Given the description of an element on the screen output the (x, y) to click on. 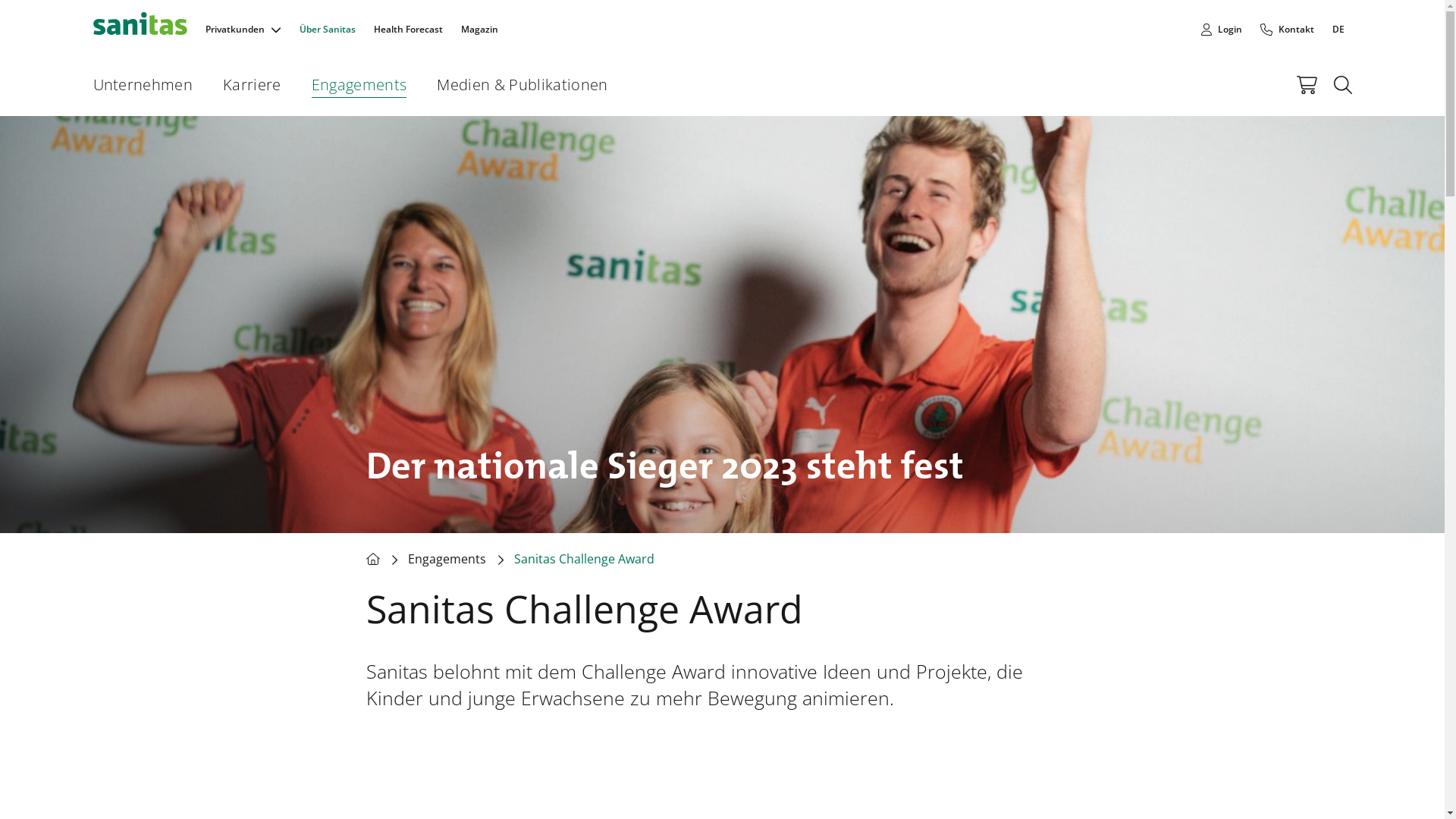
Sanitas Challenge Award Element type: text (584, 559)
Privatkunden Element type: text (233, 28)
Kontakt Element type: text (1287, 28)
Magazin Element type: text (479, 28)
Health Forecast Element type: text (407, 28)
Engagements Element type: text (446, 559)
